Given the description of an element on the screen output the (x, y) to click on. 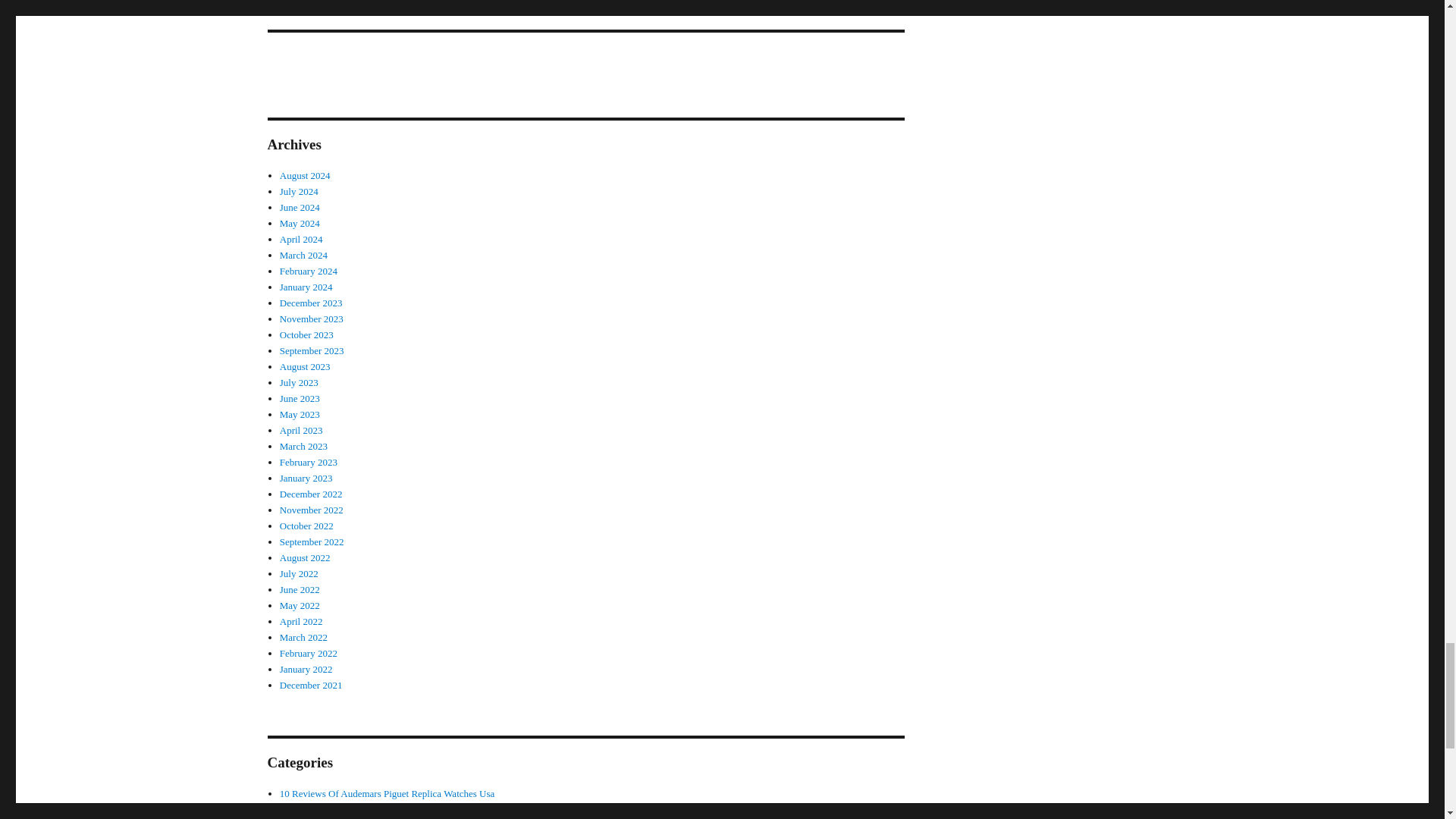
August 2024 (304, 174)
November 2023 (311, 318)
December 2023 (310, 302)
August 2023 (304, 366)
June 2023 (299, 398)
September 2023 (311, 350)
January 2024 (306, 286)
May 2024 (299, 223)
March 2023 (303, 446)
November 2022 (311, 509)
